Given the description of an element on the screen output the (x, y) to click on. 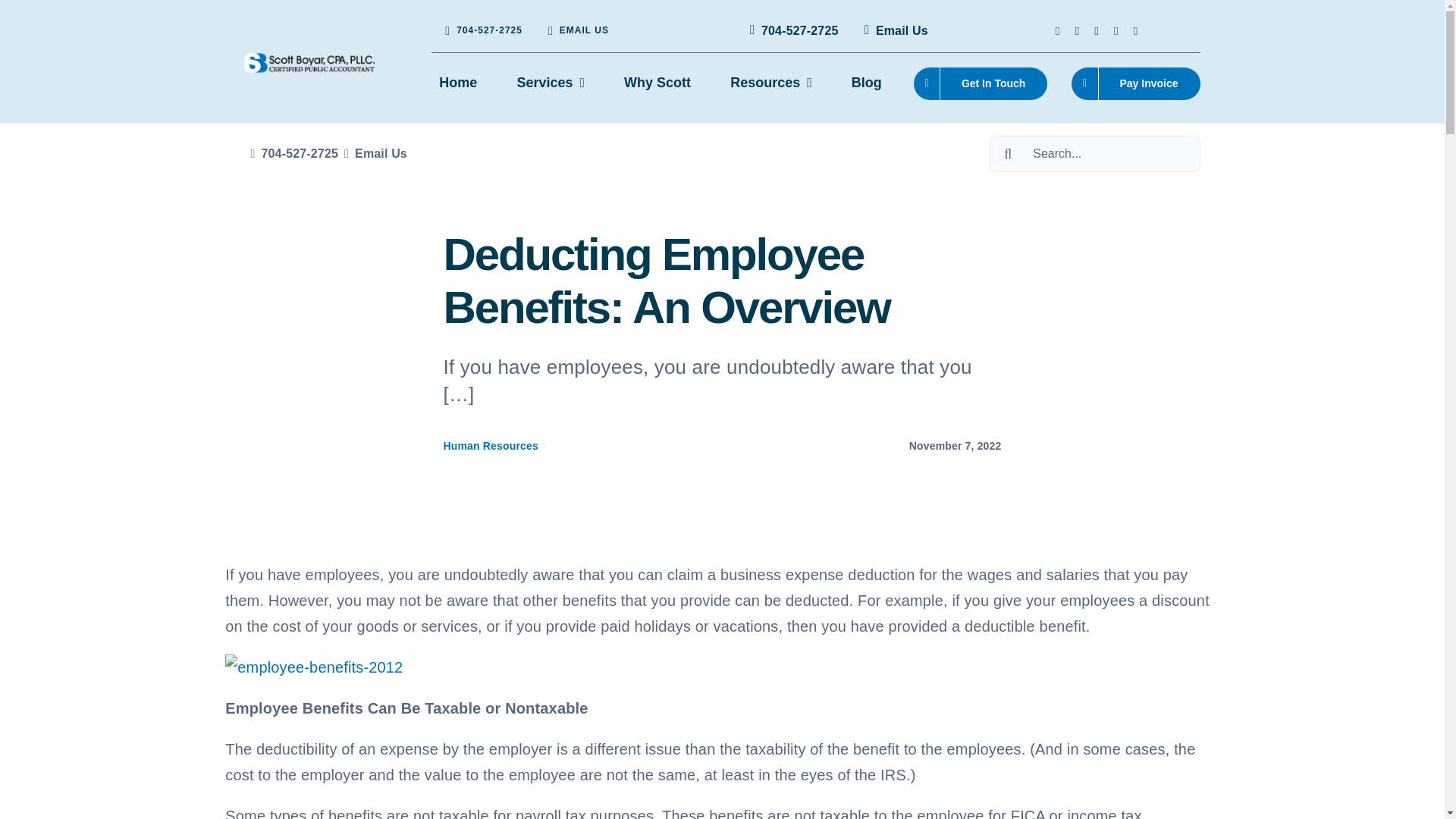
Home (457, 83)
Human Resources (491, 445)
Blog (866, 83)
Get In Touch (981, 83)
704-527-2725 (790, 30)
Resources (770, 83)
Services (550, 83)
704-527-2725 (479, 30)
EMAIL US (574, 30)
Pay Invoice (1135, 83)
Email Us (893, 30)
Why Scott (656, 83)
